Given the description of an element on the screen output the (x, y) to click on. 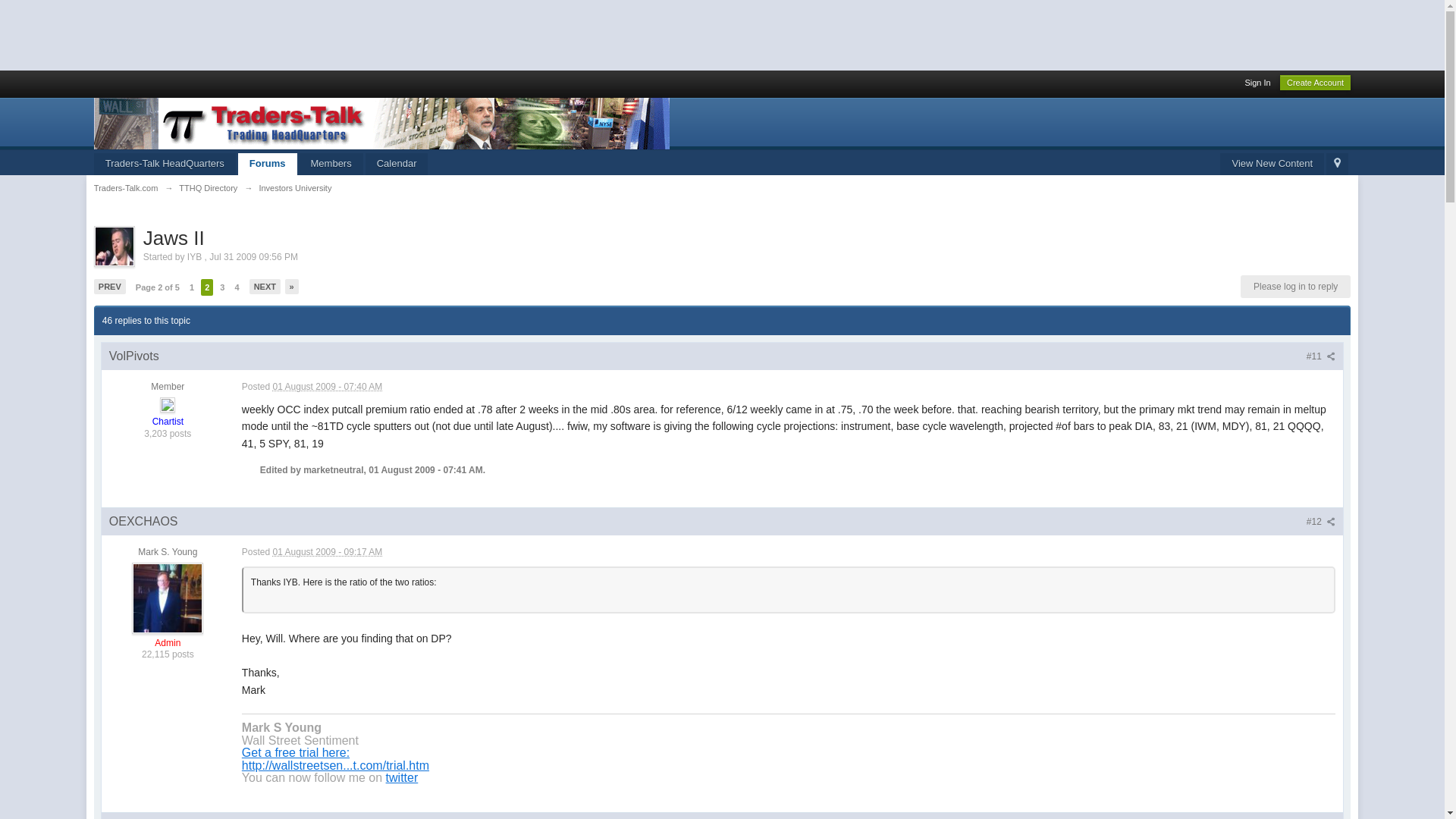
Members (330, 164)
Calendar (396, 164)
Traders-Talk HeadQuarters (164, 164)
Go to Forums (267, 164)
Advertisement (275, 33)
NEXT (264, 286)
TTHQ Directory (208, 187)
View New Content (1271, 164)
Traders-Talk.com (126, 187)
Create Account (1315, 82)
Page 2 of 5 (157, 287)
Investors University (295, 187)
Open Quick Navigation (1337, 164)
View New Content (1271, 164)
